Given the description of an element on the screen output the (x, y) to click on. 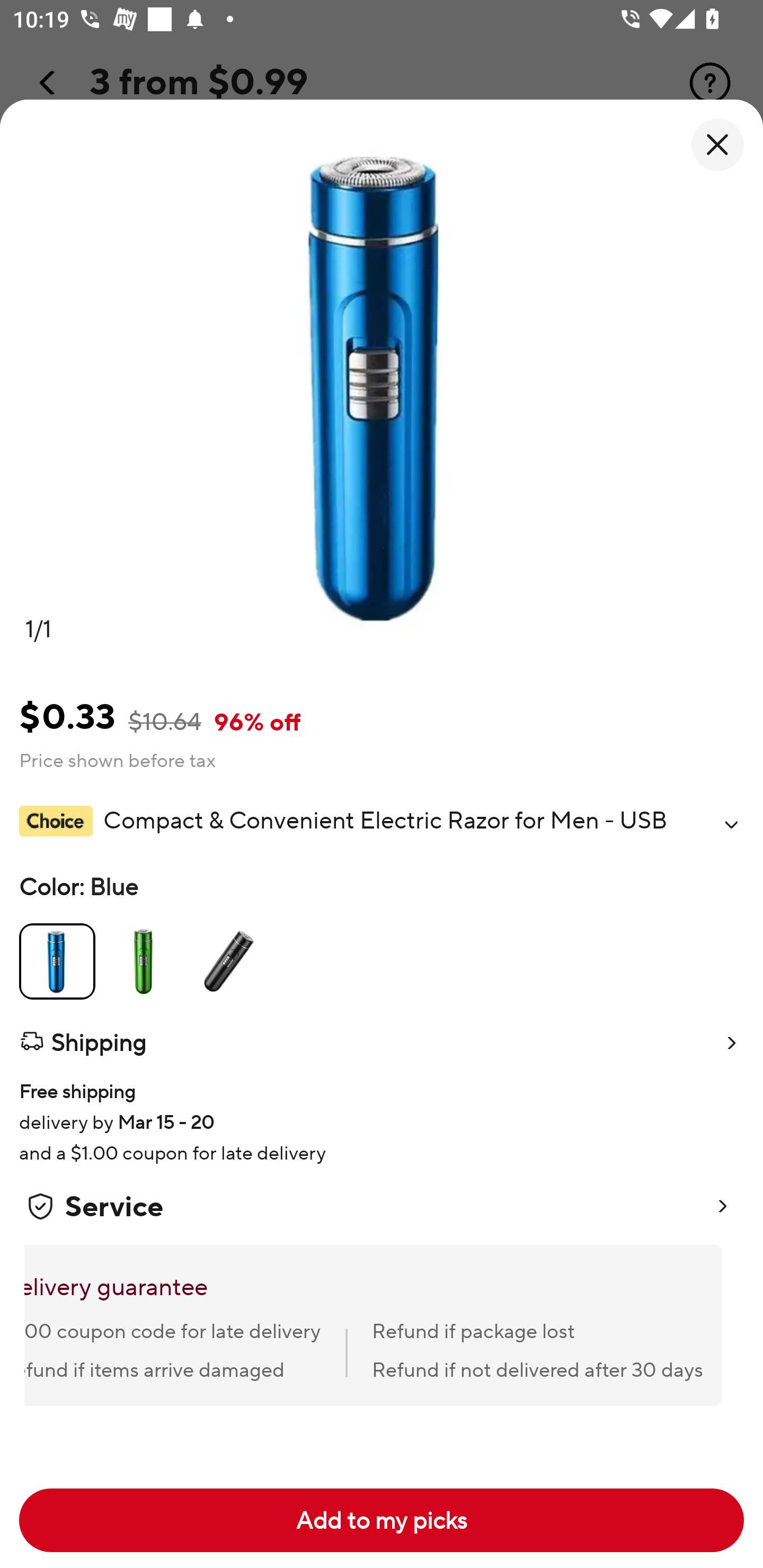
close  (717, 144)
 (730, 824)
Add to my picks (381, 1520)
